Given the description of an element on the screen output the (x, y) to click on. 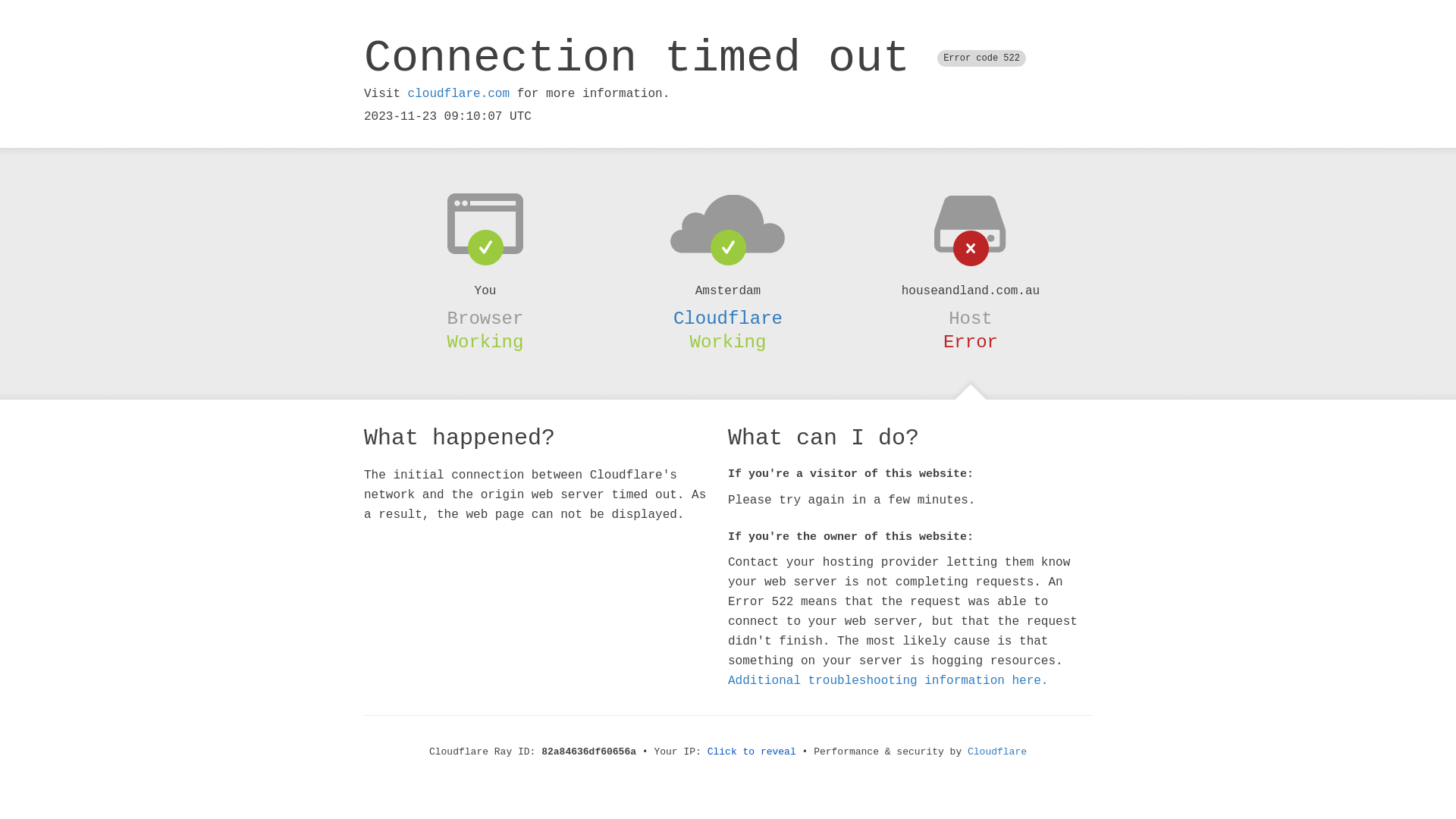
Click to reveal Element type: text (751, 751)
Cloudflare Element type: text (996, 751)
Additional troubleshooting information here. Element type: text (888, 680)
cloudflare.com Element type: text (458, 93)
Cloudflare Element type: text (727, 318)
